Given the description of an element on the screen output the (x, y) to click on. 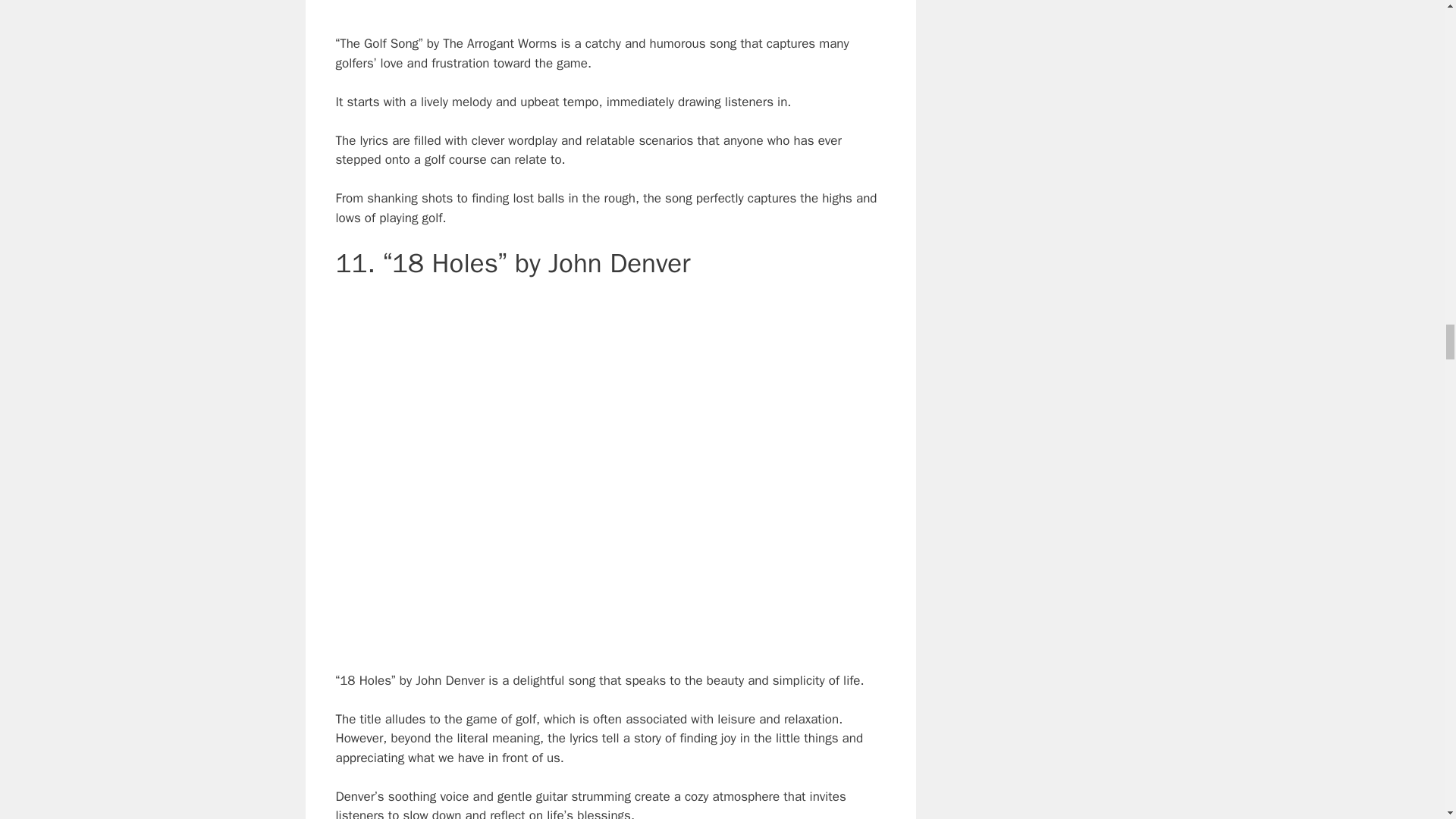
The Golf Song (609, 4)
